Given the description of an element on the screen output the (x, y) to click on. 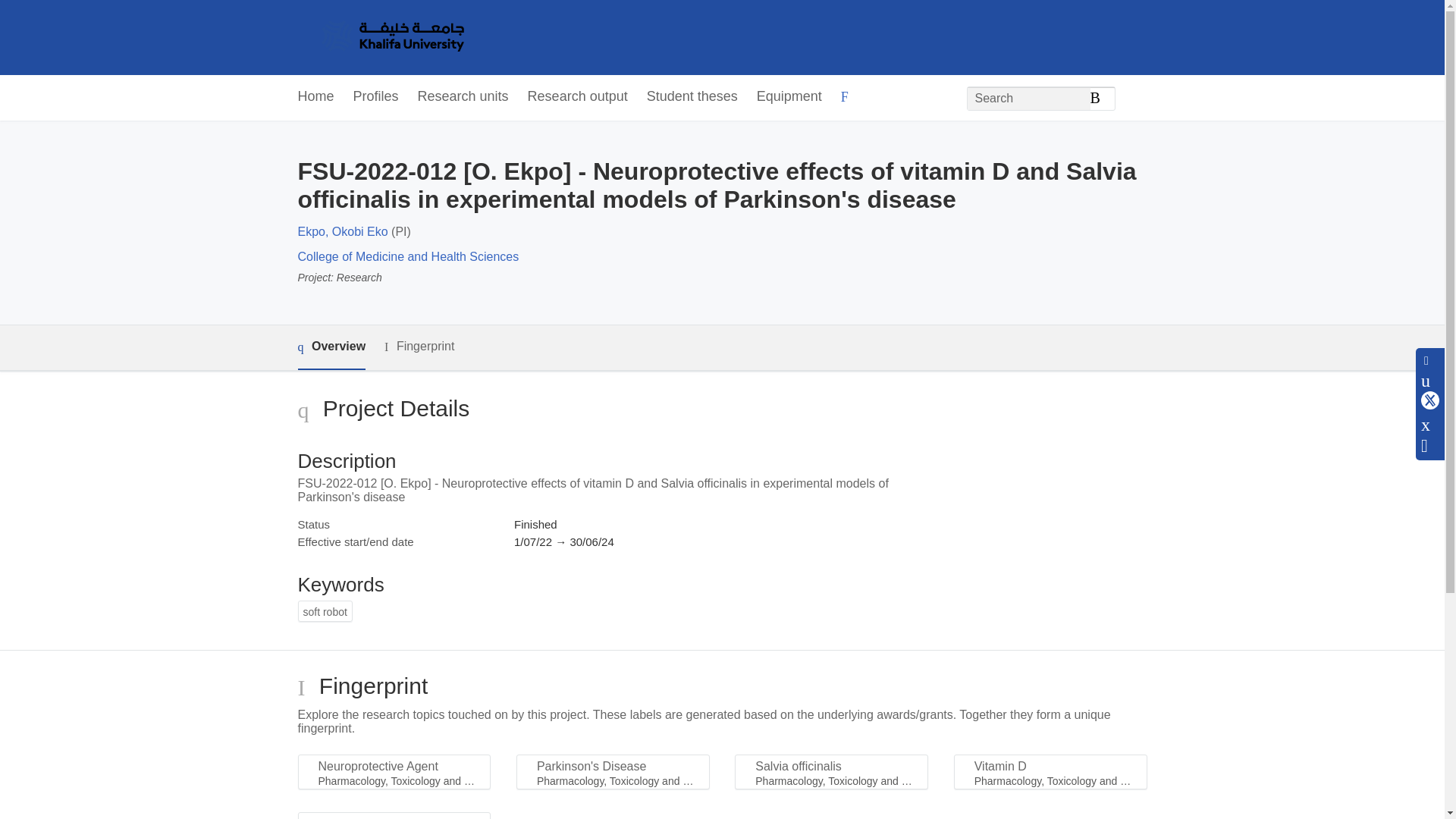
Research output (577, 97)
Equipment (789, 97)
Fingerprint (419, 346)
College of Medicine and Health Sciences (407, 256)
Student theses (692, 97)
Overview (331, 347)
Profiles (375, 97)
Ekpo, Okobi Eko (342, 231)
Khalifa University Home (391, 37)
